Given the description of an element on the screen output the (x, y) to click on. 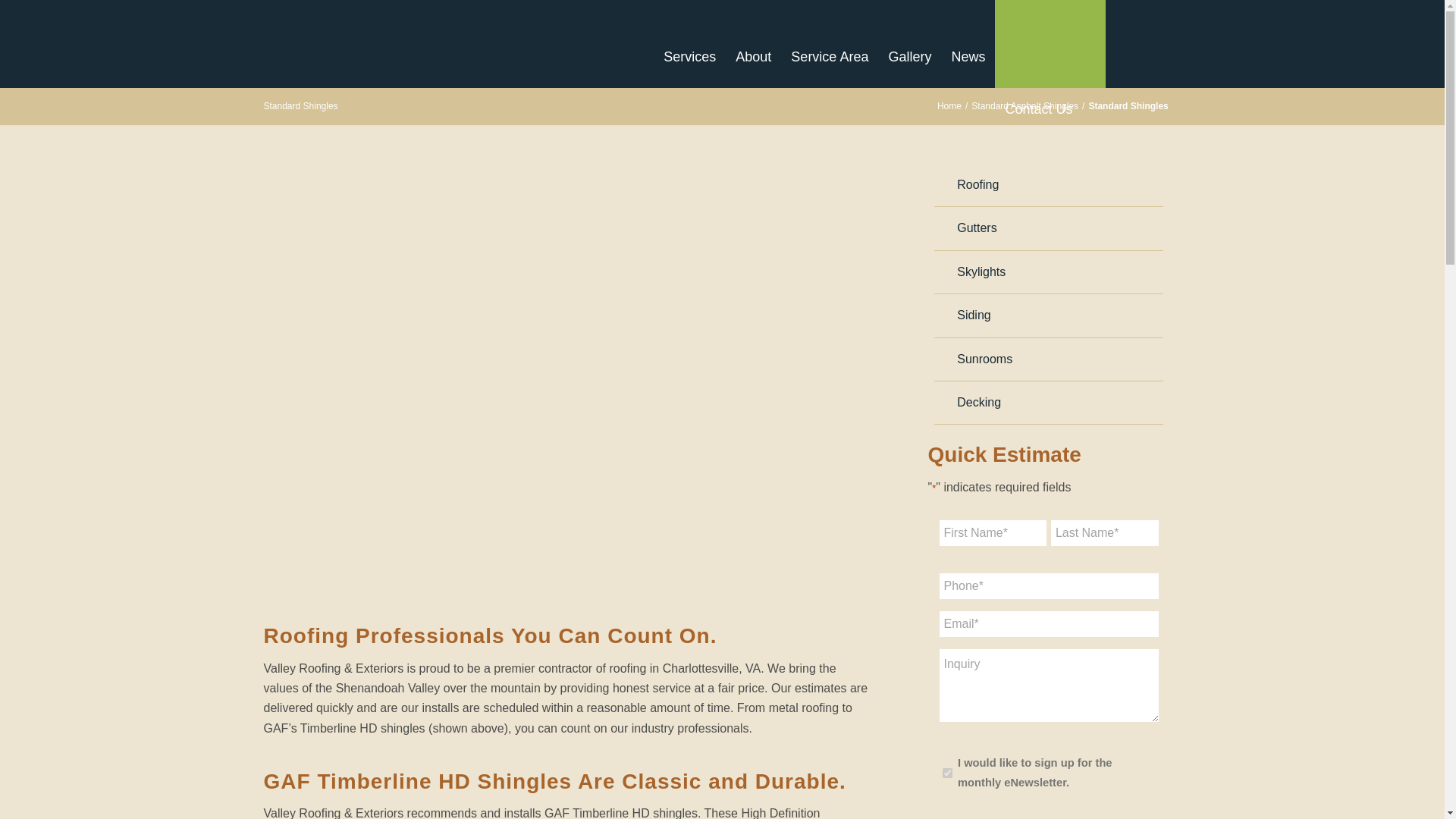
Permanent Link: Standard Shingles (300, 105)
I would like to sign up for the monthly eNewsletter. (947, 773)
